Given the description of an element on the screen output the (x, y) to click on. 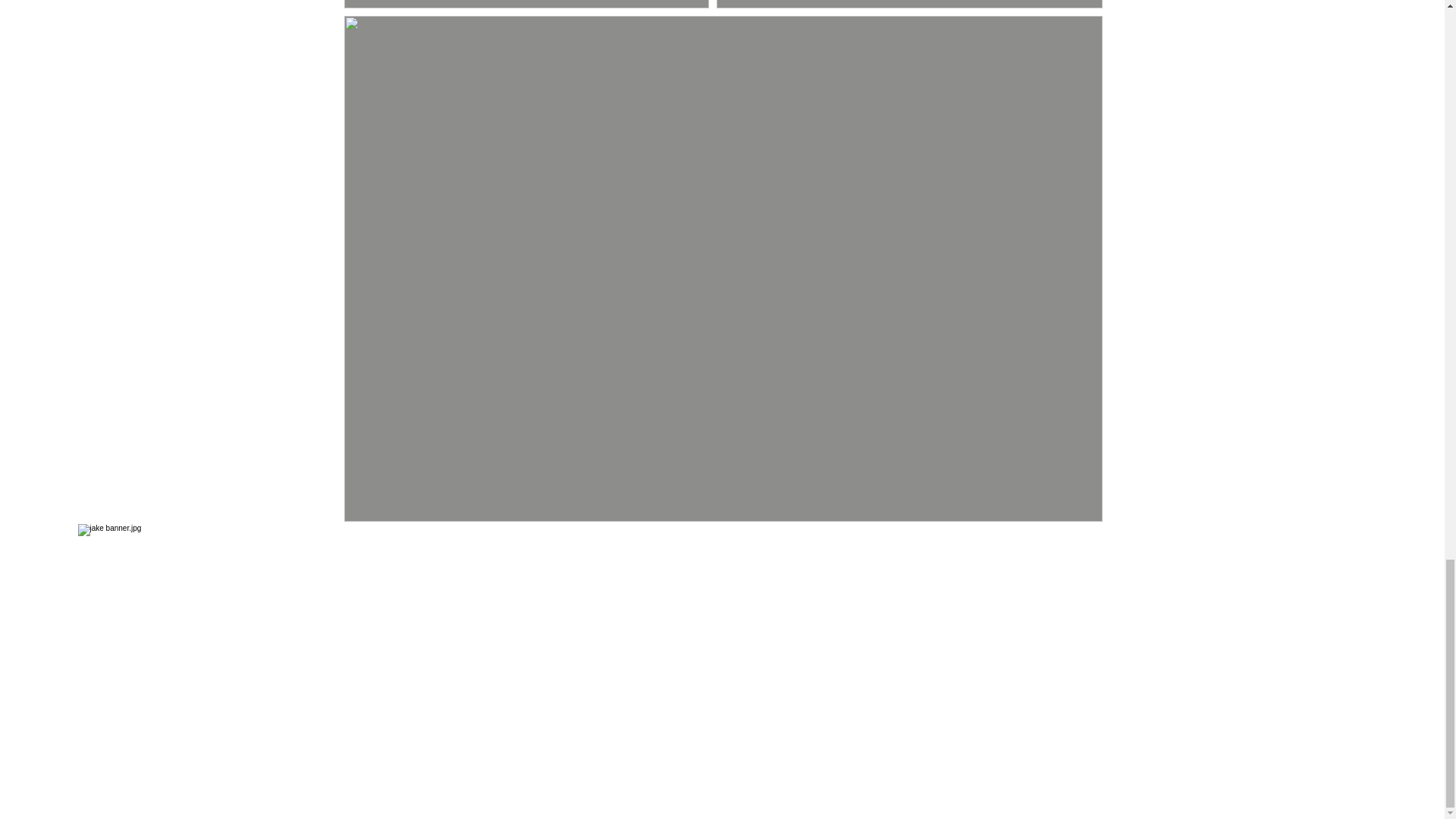
PHOTO PACKAGE (607, 547)
THAT'S RIGHT FOR YOU AND YOUR DOG (815, 547)
